Given the description of an element on the screen output the (x, y) to click on. 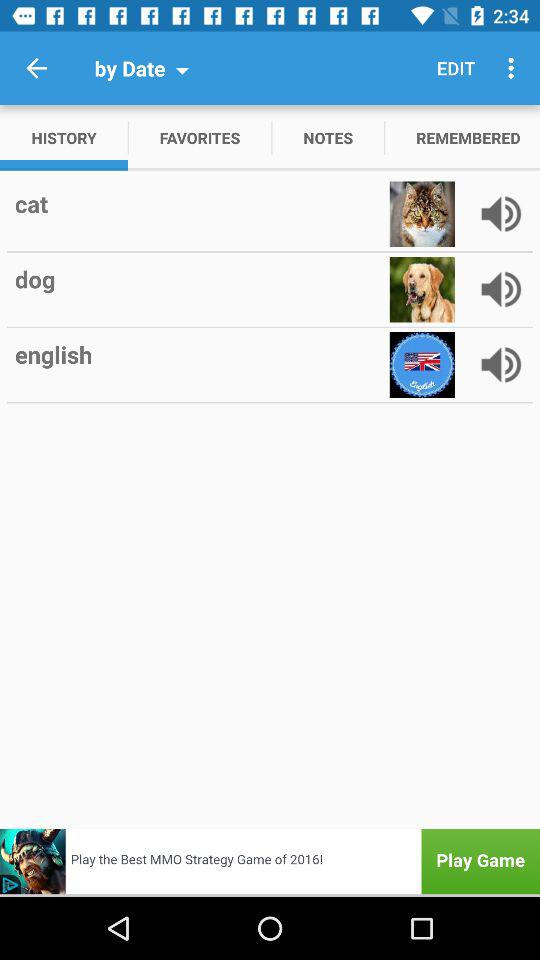
scroll until history icon (64, 137)
